Given the description of an element on the screen output the (x, y) to click on. 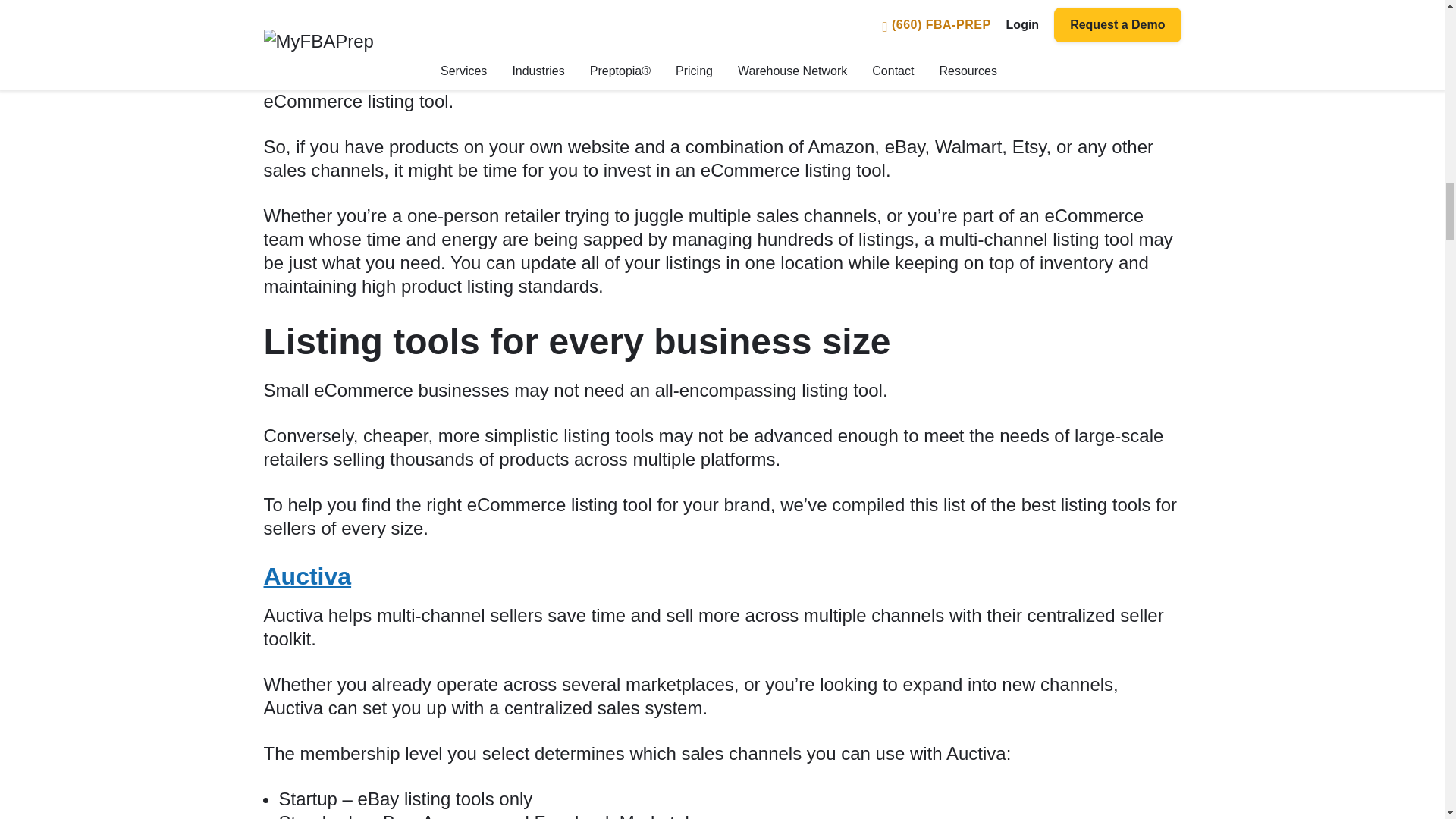
Auctiva (307, 575)
